Given the description of an element on the screen output the (x, y) to click on. 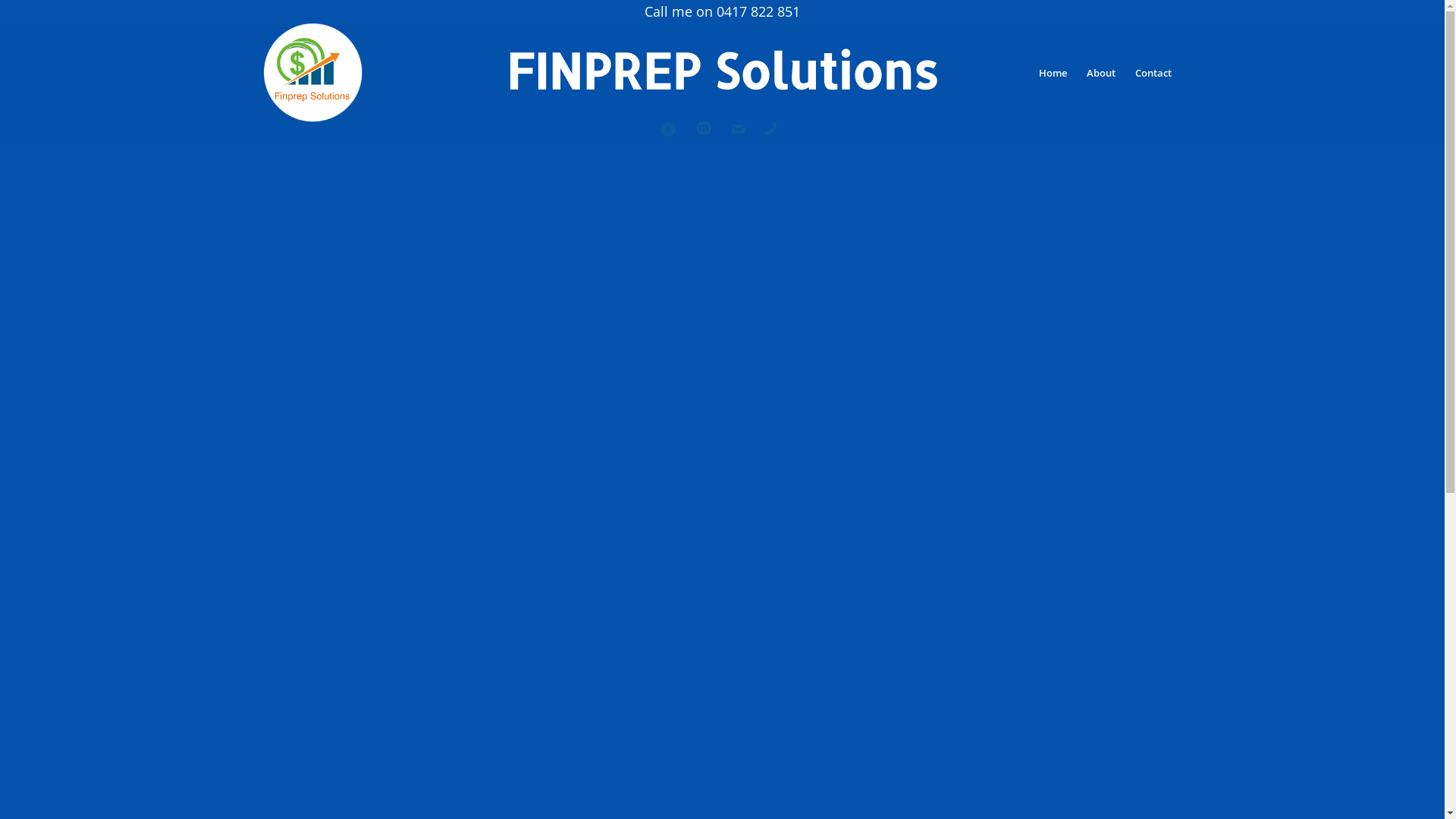
Call me on 0417 822 851 Element type: text (722, 11)
FinPrep-logo-circle-t Element type: hover (312, 72)
About Element type: text (1100, 72)
Home Element type: text (1052, 72)
Contact Element type: text (1153, 72)
